Given the description of an element on the screen output the (x, y) to click on. 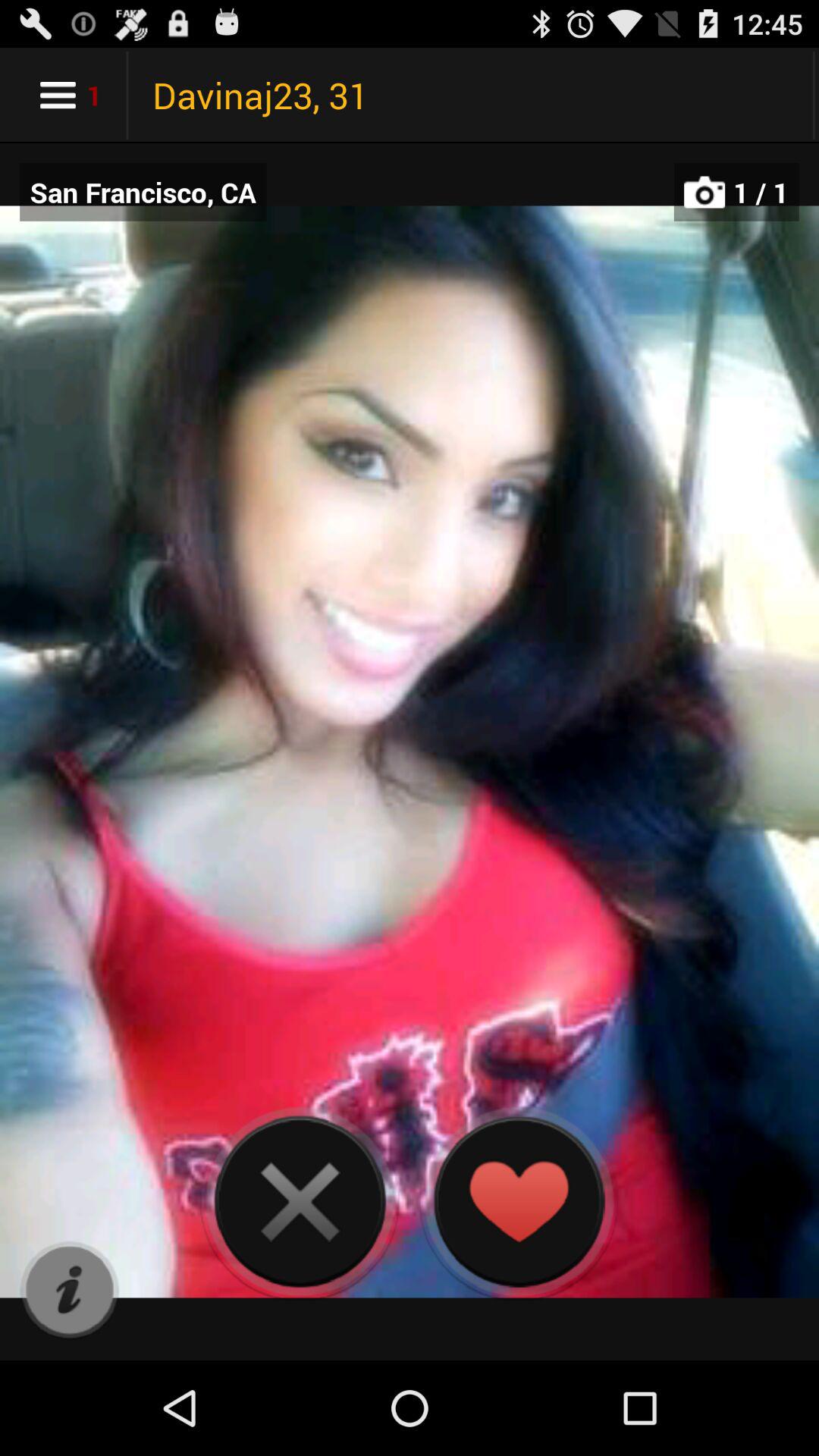
like the page (518, 1200)
